Given the description of an element on the screen output the (x, y) to click on. 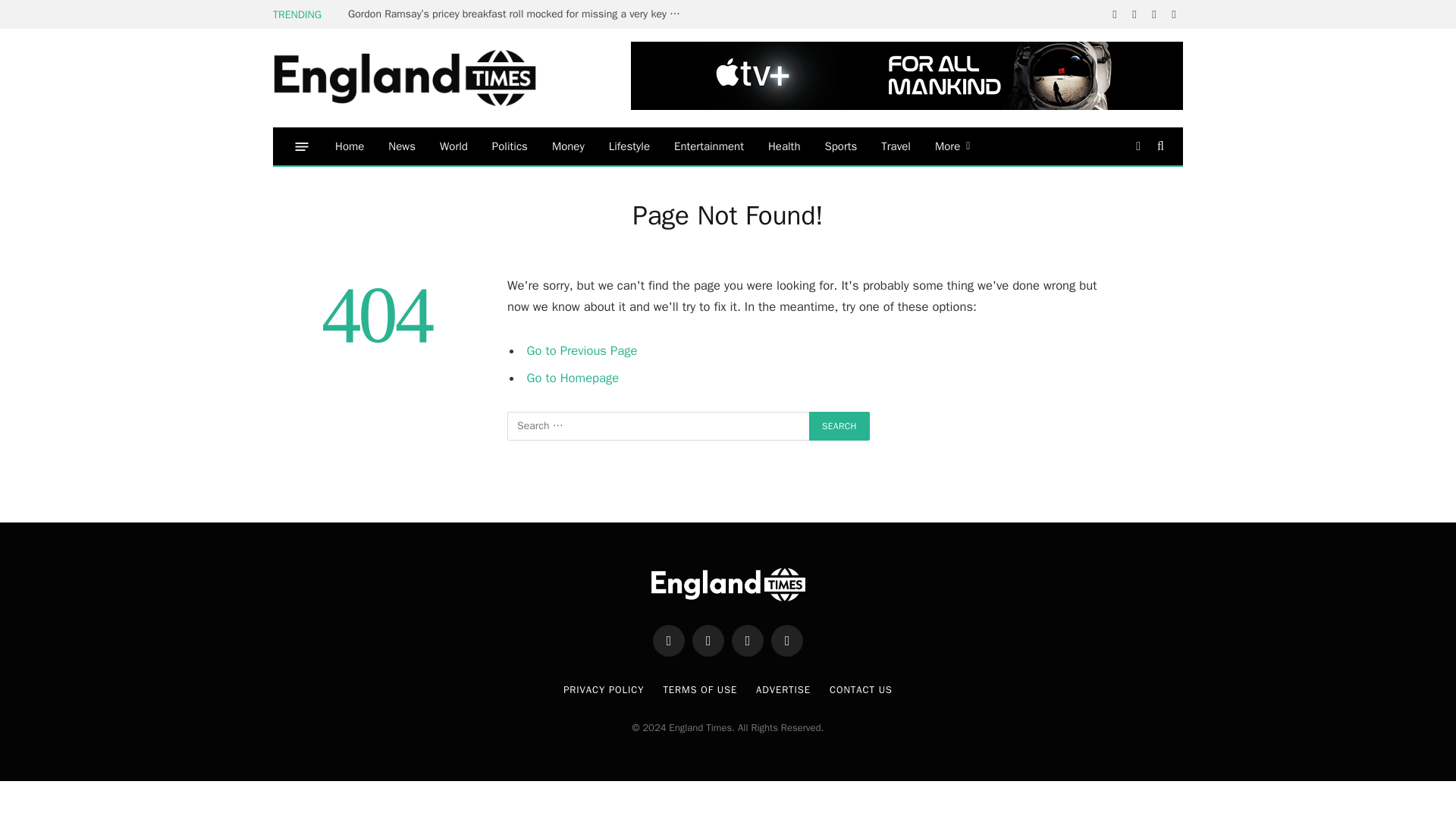
Search (839, 425)
Switch to Dark Design - easier on eyes. (1138, 146)
Search (839, 425)
England Times (428, 78)
